Given the description of an element on the screen output the (x, y) to click on. 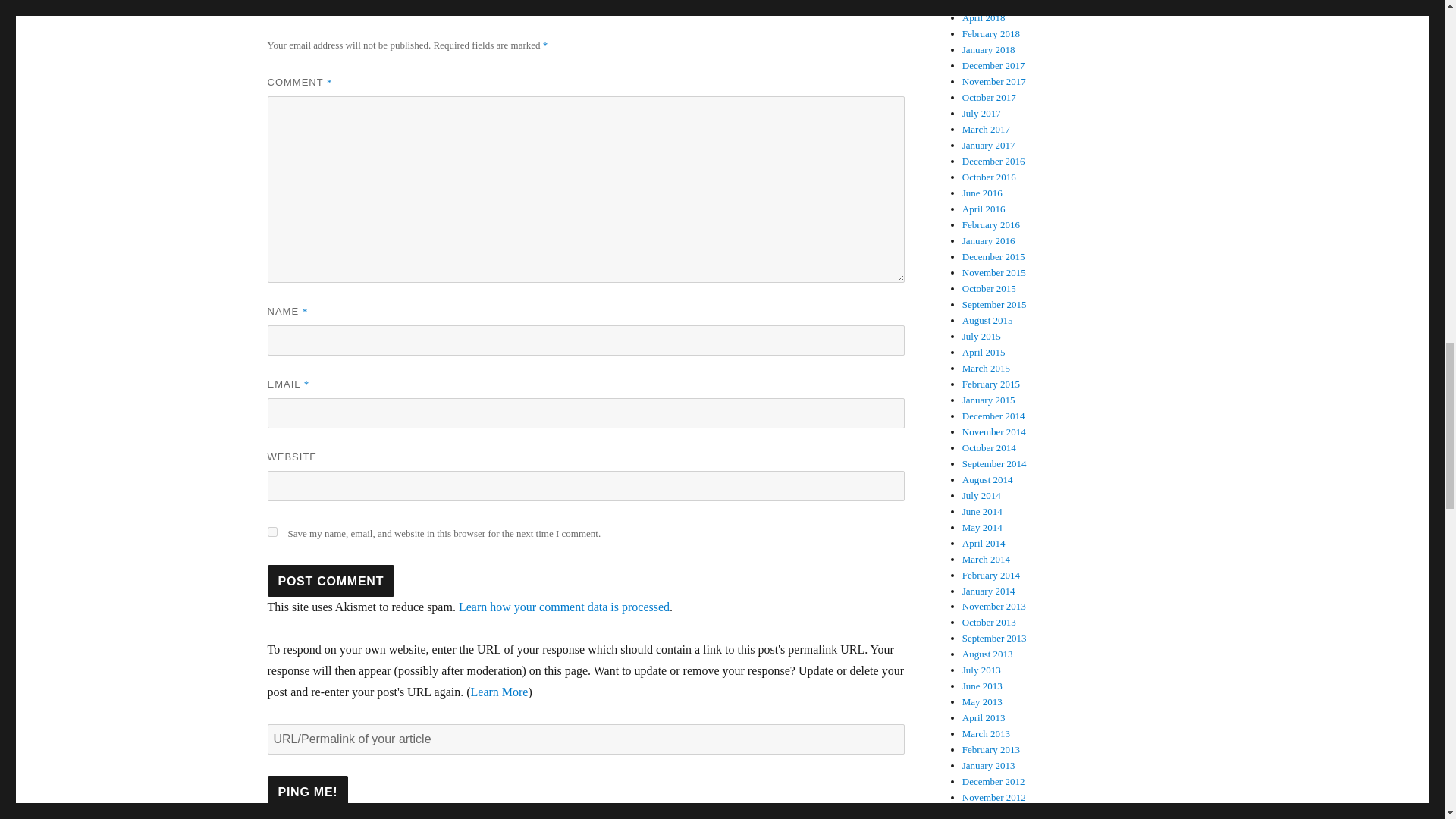
Post Comment (330, 581)
Learn More (498, 691)
Post Comment (330, 581)
Ping me! (306, 791)
Ping me! (306, 791)
Learn how your comment data is processed (563, 606)
yes (271, 532)
